Given the description of an element on the screen output the (x, y) to click on. 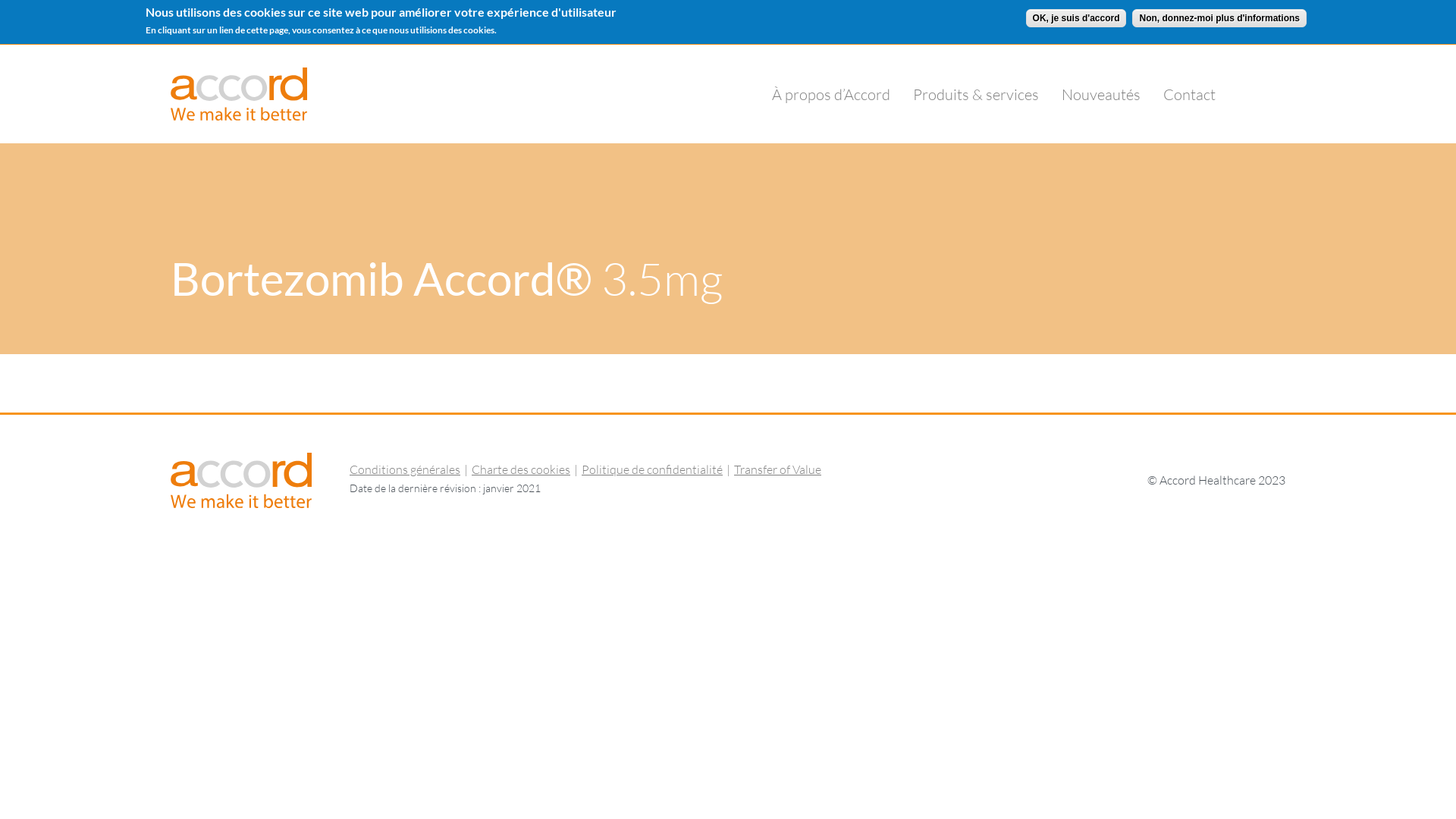
Italiano Element type: text (1245, 22)
Skip to main content Element type: text (60, 43)
Transfer of Value Element type: text (777, 468)
Contact Element type: text (1189, 94)
Non, donnez-moi plus d'informations Element type: text (1219, 18)
Produits & services Element type: text (975, 94)
OK, je suis d'accord Element type: text (1076, 18)
Accord International Element type: text (231, 21)
Charte des cookies Element type: text (520, 468)
Deutsch Element type: text (1085, 22)
